Given the description of an element on the screen output the (x, y) to click on. 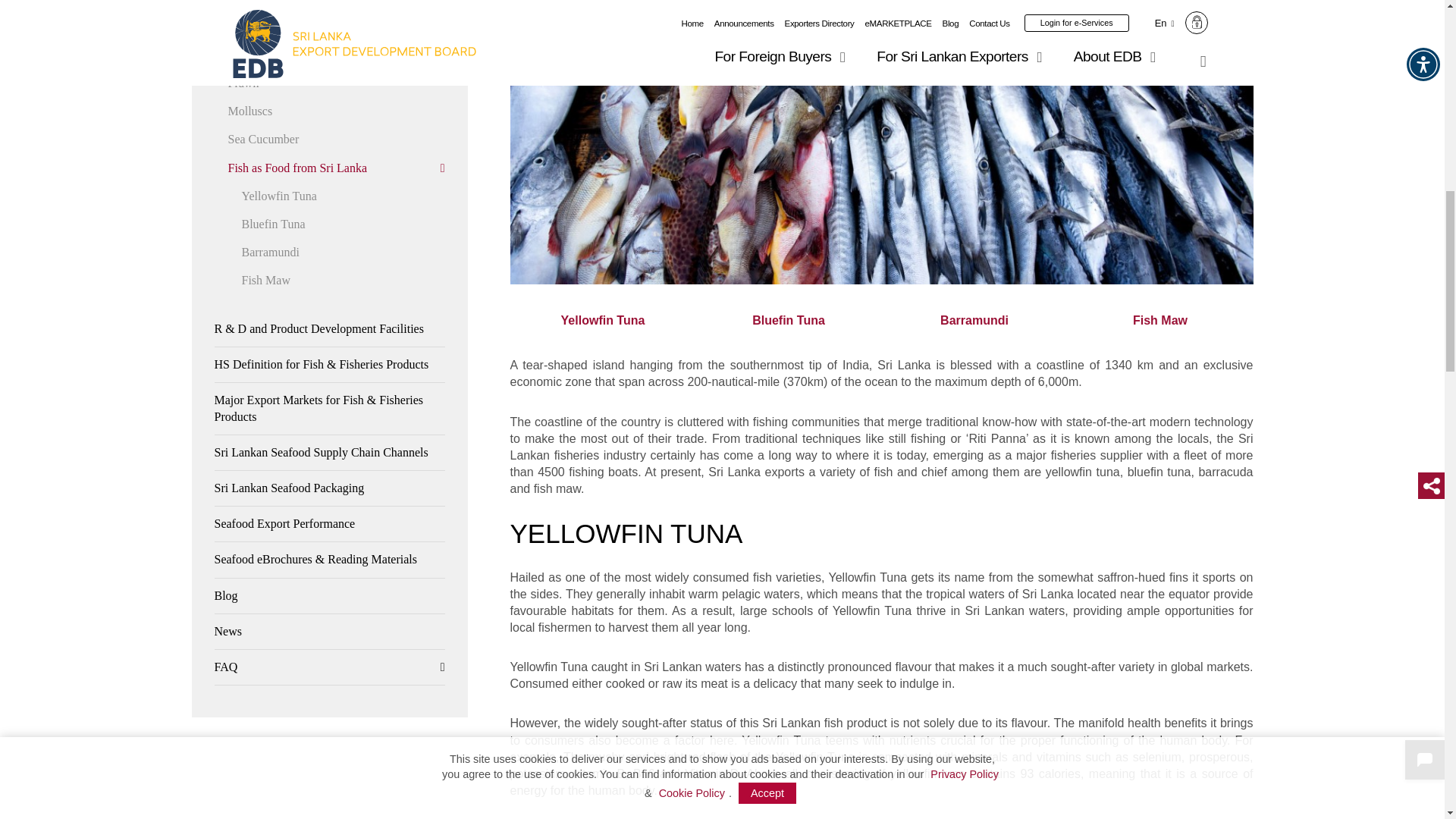
Bluefin Tuna (788, 319)
Yellowfin Tuna (602, 319)
Fish Maw (1160, 319)
Barramundi (974, 319)
Yellowfin Tuna Bluefin Tuna Barramundi Fish Maw (880, 320)
